Given the description of an element on the screen output the (x, y) to click on. 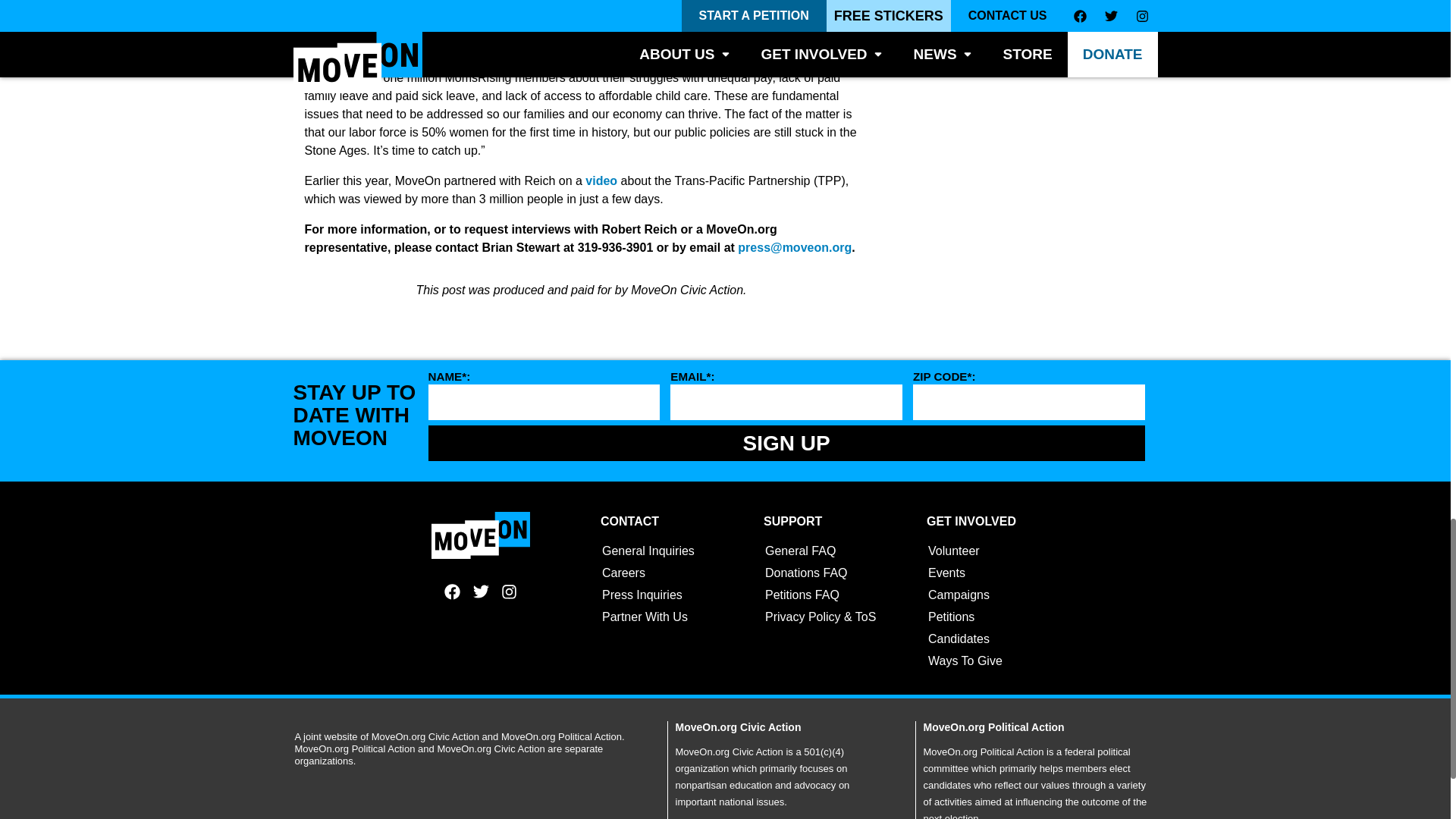
video (601, 180)
